Given the description of an element on the screen output the (x, y) to click on. 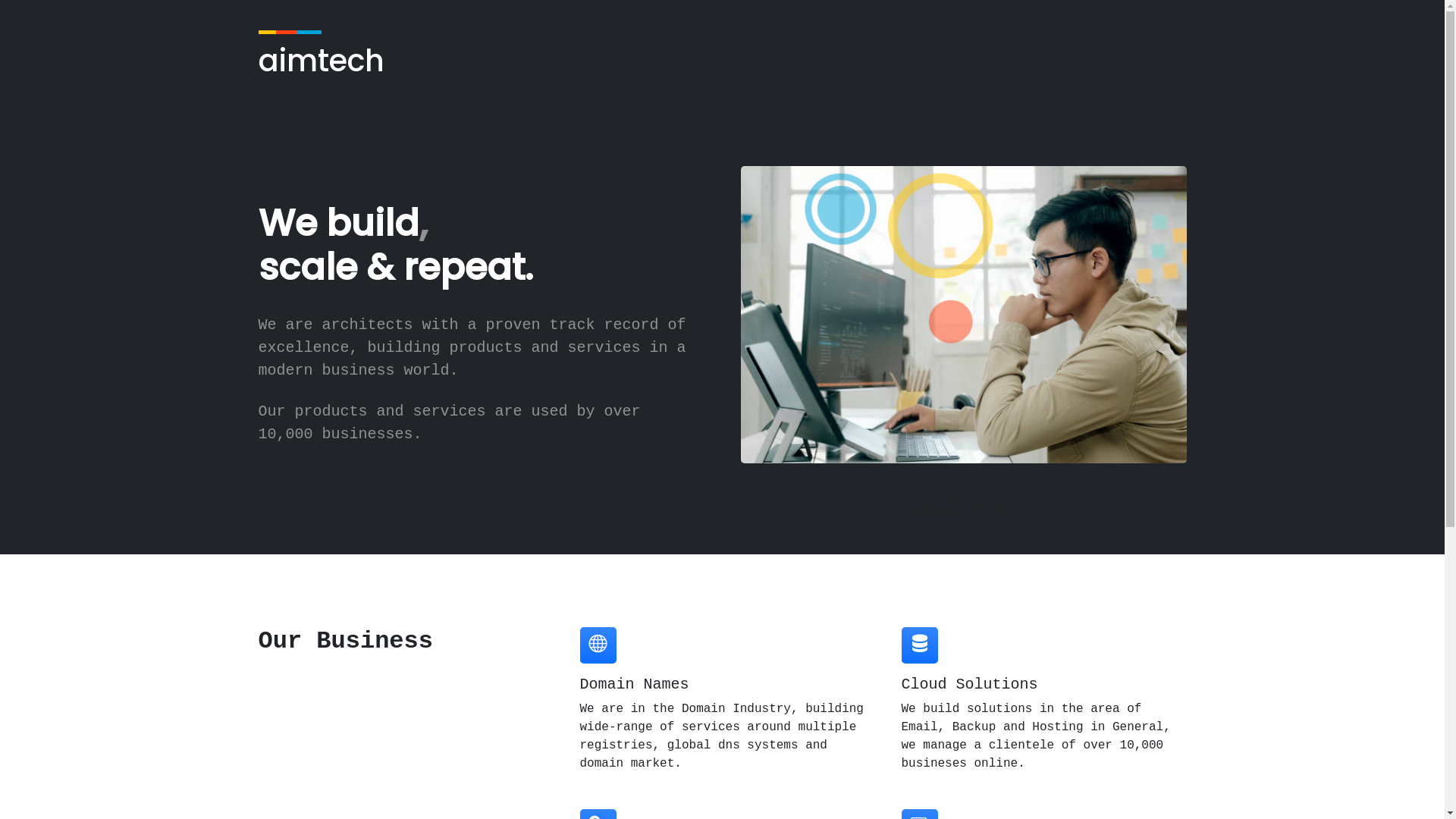
aimtech Element type: text (320, 58)
